Given the description of an element on the screen output the (x, y) to click on. 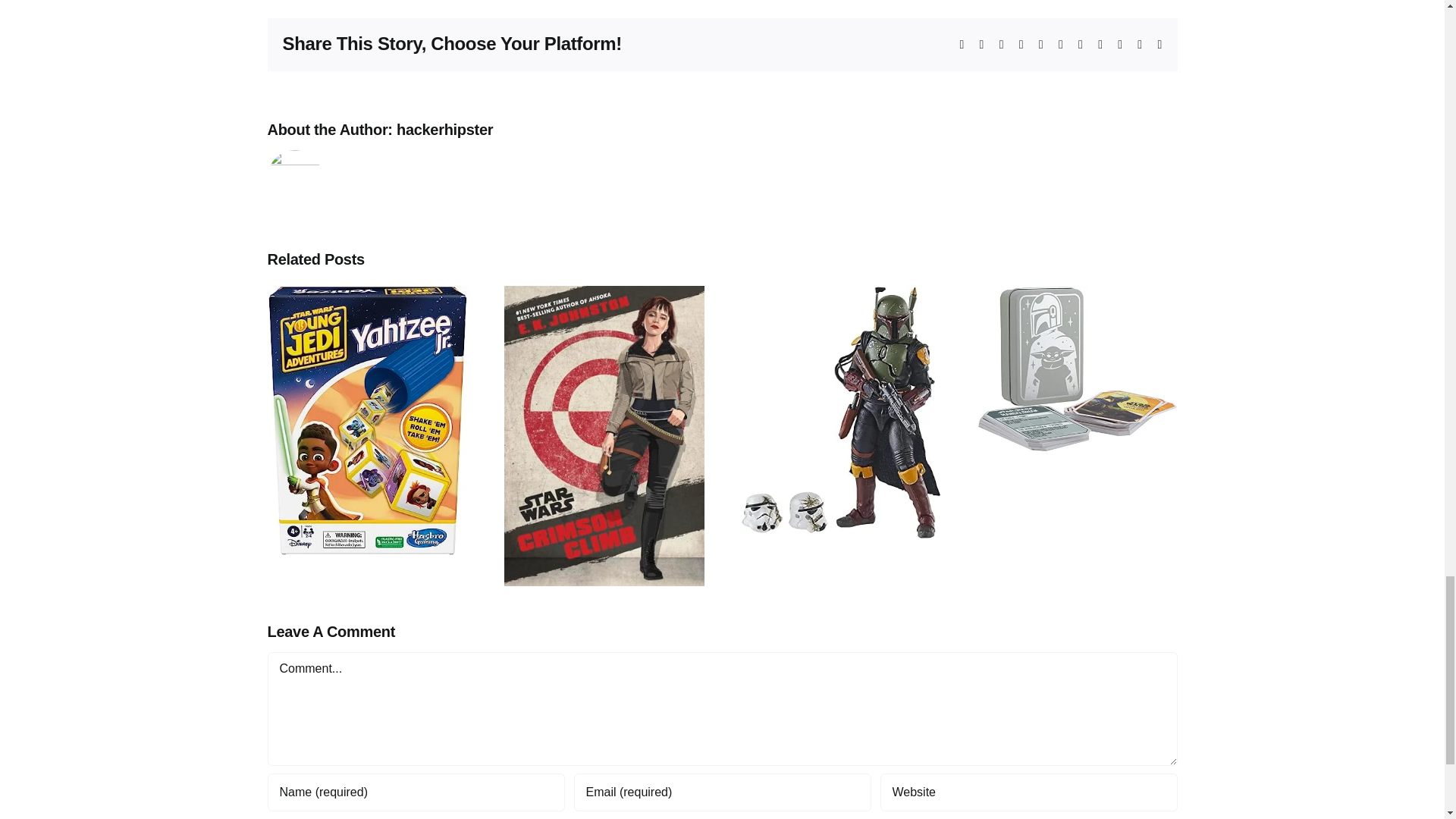
hackerhipster (444, 129)
